Given the description of an element on the screen output the (x, y) to click on. 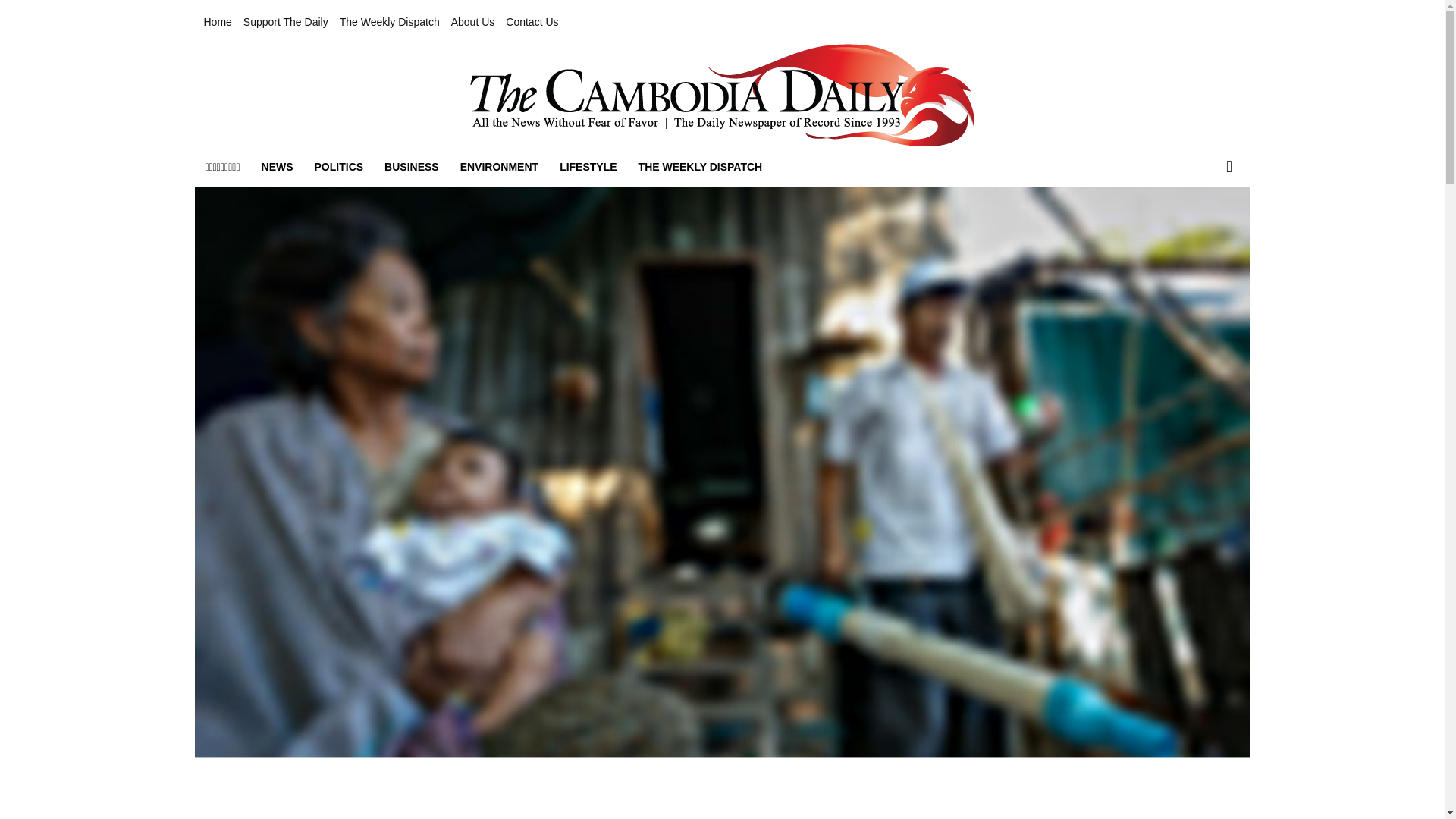
The Weekly Dispatch (389, 21)
All the news without fear or favor (722, 94)
About Us (473, 21)
POLITICS (339, 166)
ENVIRONMENT (498, 166)
Home (217, 21)
THE WEEKLY DISPATCH (700, 166)
Support The Daily (286, 21)
Contact Us (531, 21)
LIFESTYLE (587, 166)
